Given the description of an element on the screen output the (x, y) to click on. 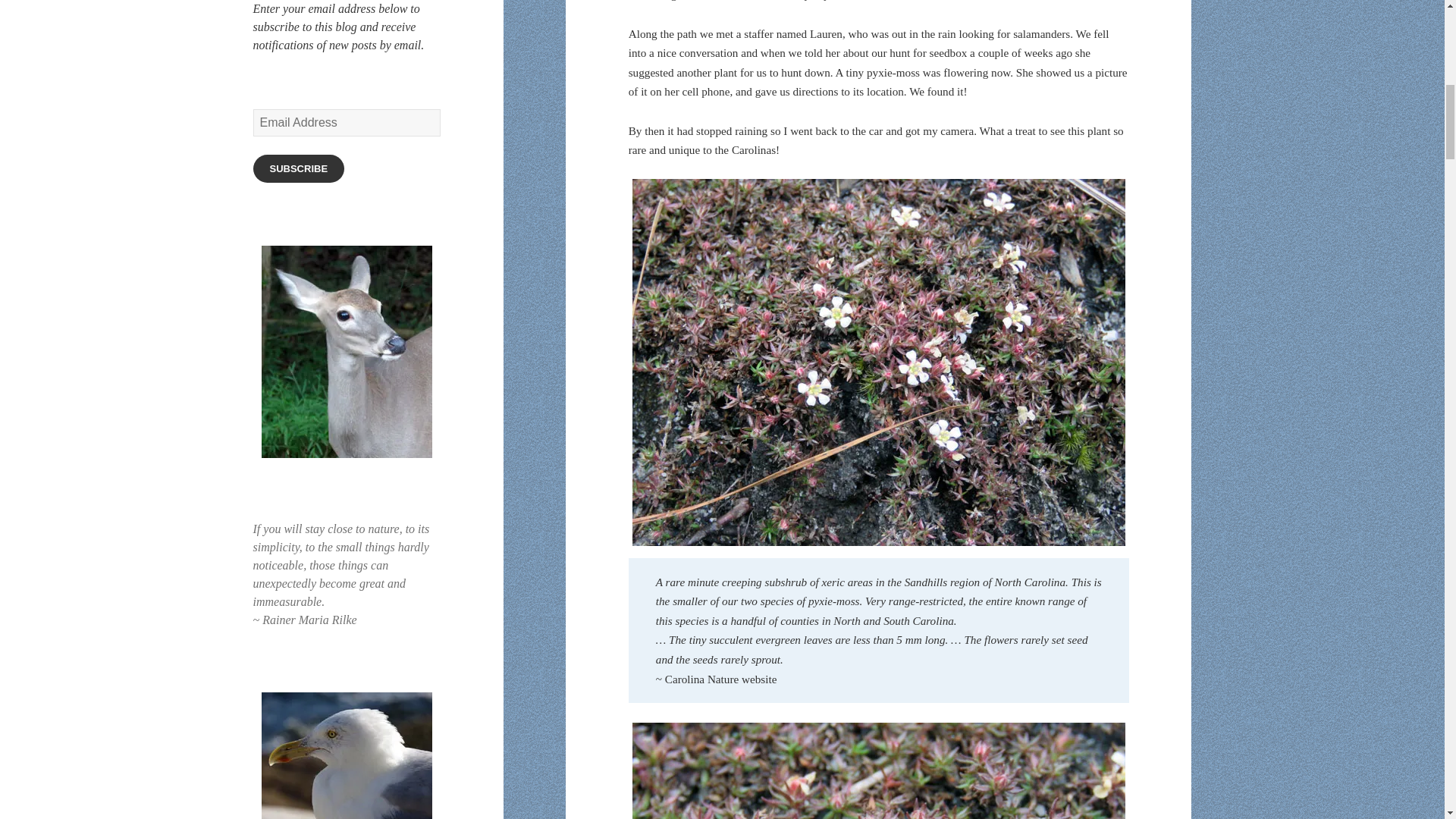
SUBSCRIBE (299, 168)
